Given the description of an element on the screen output the (x, y) to click on. 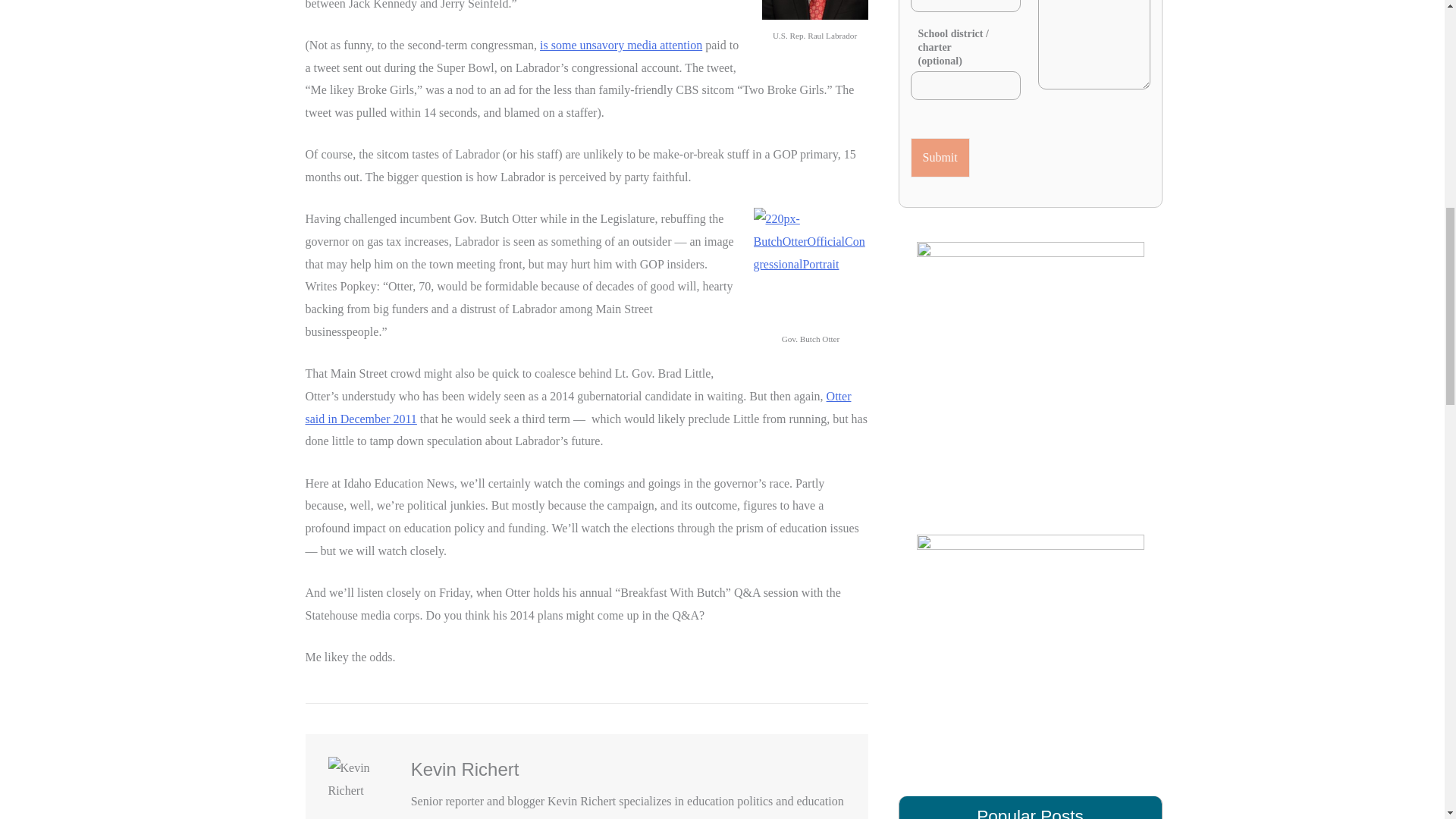
is some unsavory media attention (620, 44)
Submit (939, 157)
Otter said in December 2011 (577, 407)
